Given the description of an element on the screen output the (x, y) to click on. 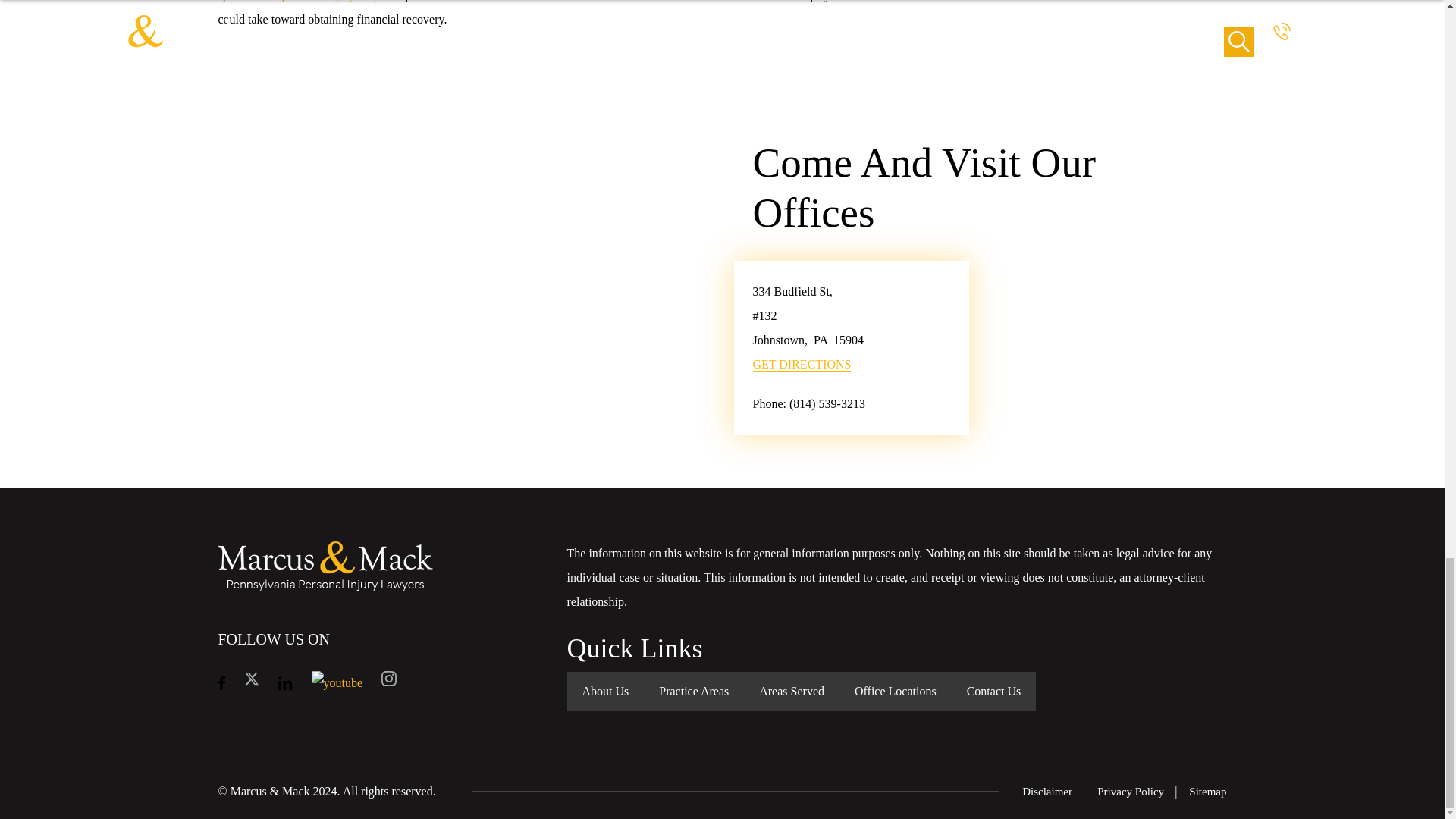
youtube (336, 680)
instagram (388, 681)
Created with Sketch. (388, 678)
twitter (251, 681)
linkedin (285, 681)
